Given the description of an element on the screen output the (x, y) to click on. 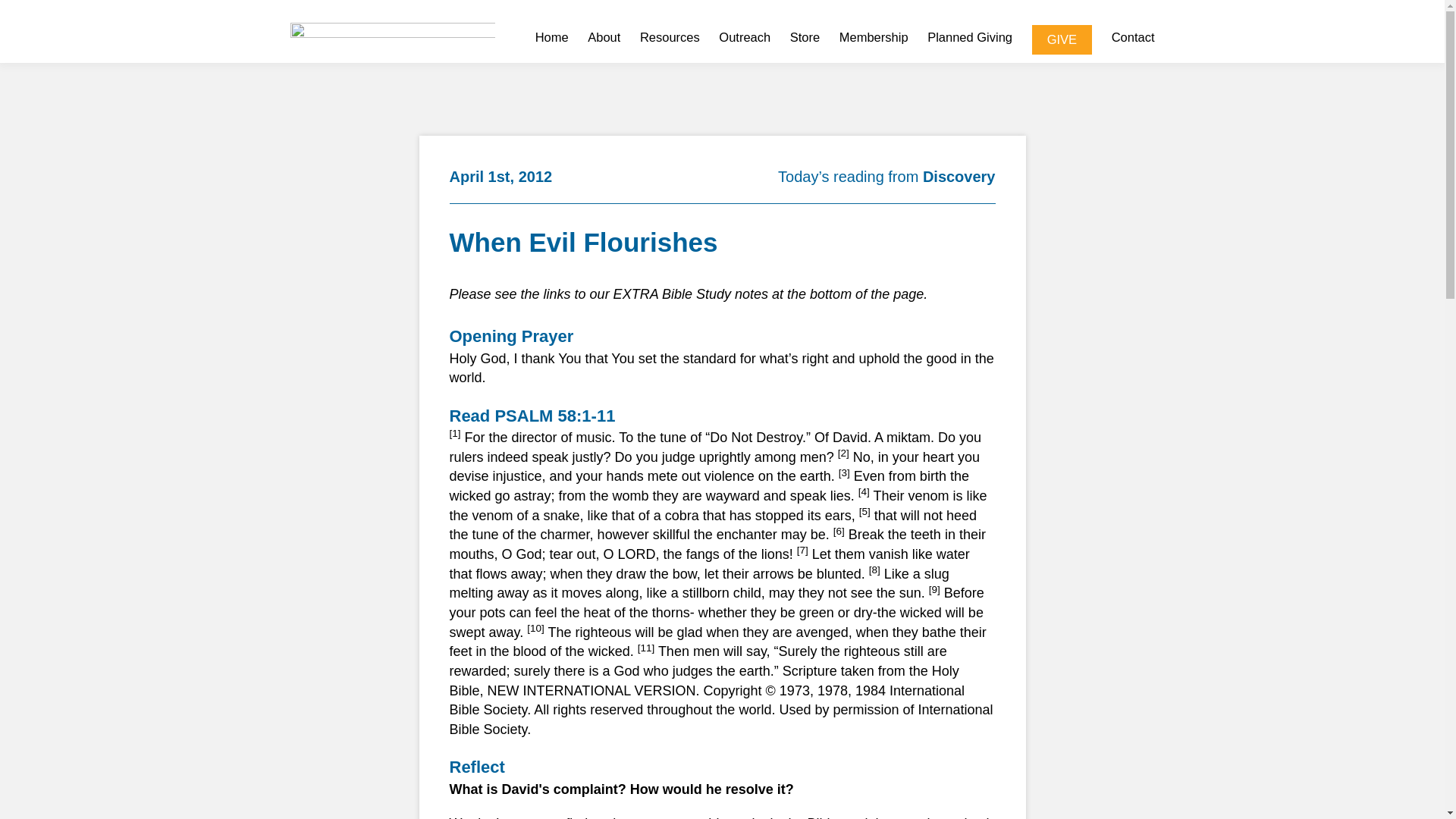
Contact (1133, 39)
Resources (670, 39)
Outreach (744, 39)
Membership (874, 39)
Planned Giving (969, 39)
Home (552, 39)
Store (804, 39)
GIVE (1062, 39)
About (604, 39)
